Given the description of an element on the screen output the (x, y) to click on. 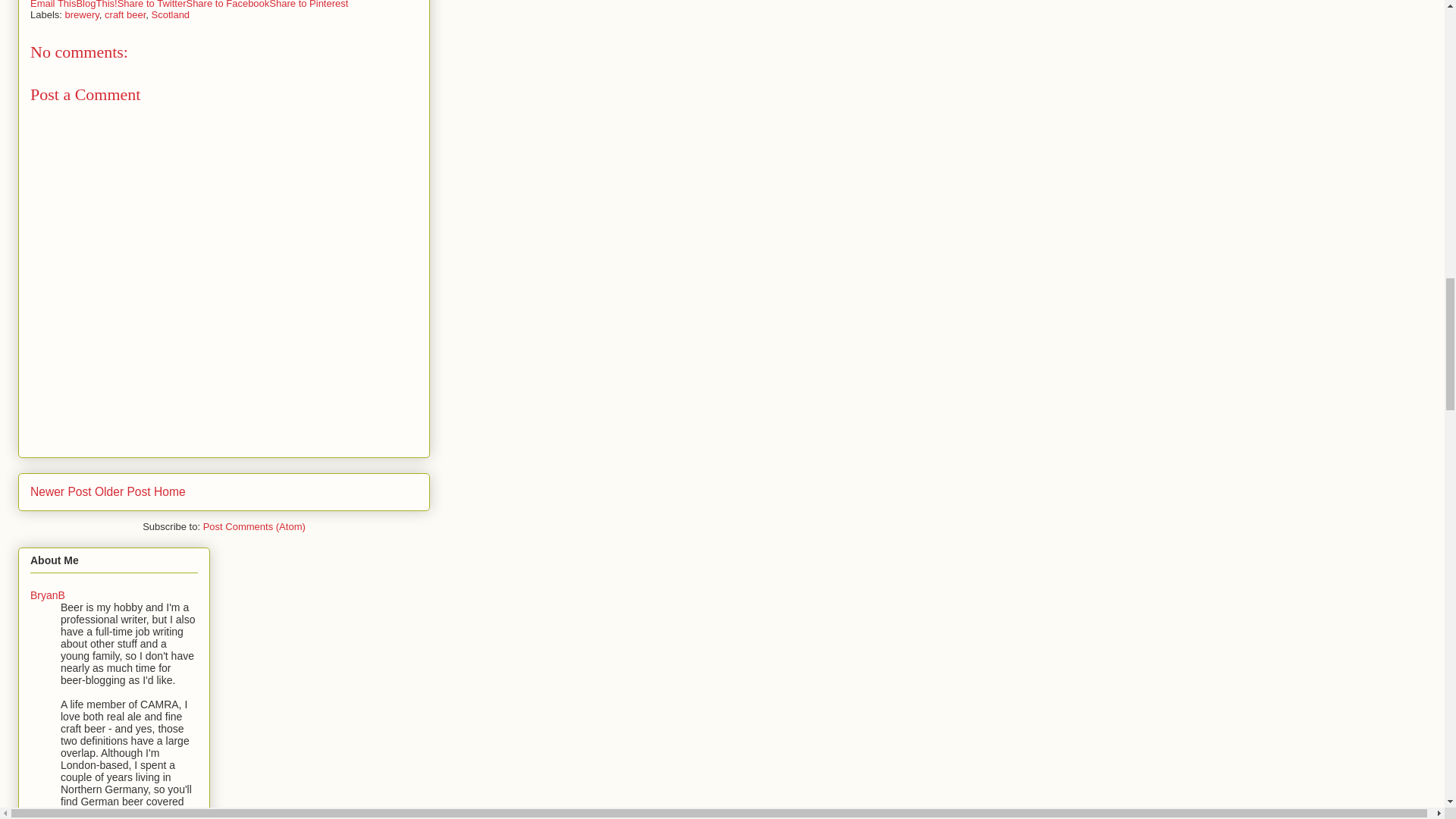
brewery (82, 14)
Scotland (170, 14)
BryanB (47, 594)
Share to Pinterest (308, 4)
Share to Facebook (227, 4)
craft beer (124, 14)
Share to Facebook (227, 4)
BlogThis! (95, 4)
BlogThis! (95, 4)
Home (170, 491)
Email This (52, 4)
Share to Pinterest (308, 4)
Older Post (122, 491)
Newer Post (60, 491)
Older Post (122, 491)
